Given the description of an element on the screen output the (x, y) to click on. 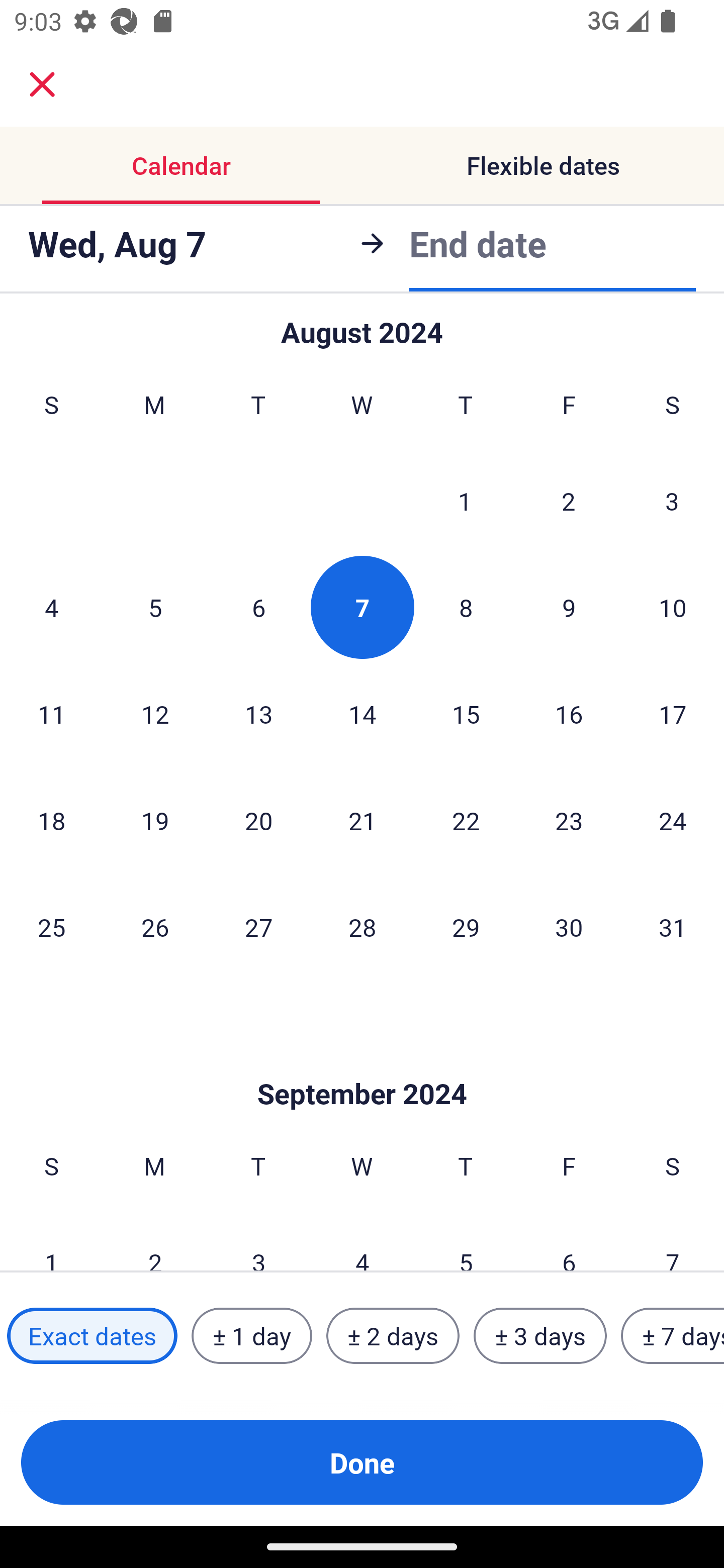
close. (42, 84)
Flexible dates (542, 164)
End date (477, 240)
1 Thursday, August 1, 2024 (464, 500)
2 Friday, August 2, 2024 (568, 500)
3 Saturday, August 3, 2024 (672, 500)
4 Sunday, August 4, 2024 (51, 606)
5 Monday, August 5, 2024 (155, 606)
6 Tuesday, August 6, 2024 (258, 606)
8 Thursday, August 8, 2024 (465, 606)
9 Friday, August 9, 2024 (569, 606)
10 Saturday, August 10, 2024 (672, 606)
11 Sunday, August 11, 2024 (51, 713)
12 Monday, August 12, 2024 (155, 713)
13 Tuesday, August 13, 2024 (258, 713)
14 Wednesday, August 14, 2024 (362, 713)
15 Thursday, August 15, 2024 (465, 713)
16 Friday, August 16, 2024 (569, 713)
17 Saturday, August 17, 2024 (672, 713)
18 Sunday, August 18, 2024 (51, 819)
19 Monday, August 19, 2024 (155, 819)
20 Tuesday, August 20, 2024 (258, 819)
21 Wednesday, August 21, 2024 (362, 819)
22 Thursday, August 22, 2024 (465, 819)
23 Friday, August 23, 2024 (569, 819)
24 Saturday, August 24, 2024 (672, 819)
25 Sunday, August 25, 2024 (51, 926)
26 Monday, August 26, 2024 (155, 926)
27 Tuesday, August 27, 2024 (258, 926)
28 Wednesday, August 28, 2024 (362, 926)
29 Thursday, August 29, 2024 (465, 926)
30 Friday, August 30, 2024 (569, 926)
31 Saturday, August 31, 2024 (672, 926)
Skip to Done (362, 1063)
1 Sunday, September 1, 2024 (51, 1240)
2 Monday, September 2, 2024 (155, 1240)
3 Tuesday, September 3, 2024 (258, 1240)
4 Wednesday, September 4, 2024 (362, 1240)
5 Thursday, September 5, 2024 (465, 1240)
6 Friday, September 6, 2024 (569, 1240)
7 Saturday, September 7, 2024 (672, 1240)
Exact dates (92, 1335)
± 1 day (251, 1335)
± 2 days (392, 1335)
± 3 days (539, 1335)
± 7 days (672, 1335)
Done (361, 1462)
